Given the description of an element on the screen output the (x, y) to click on. 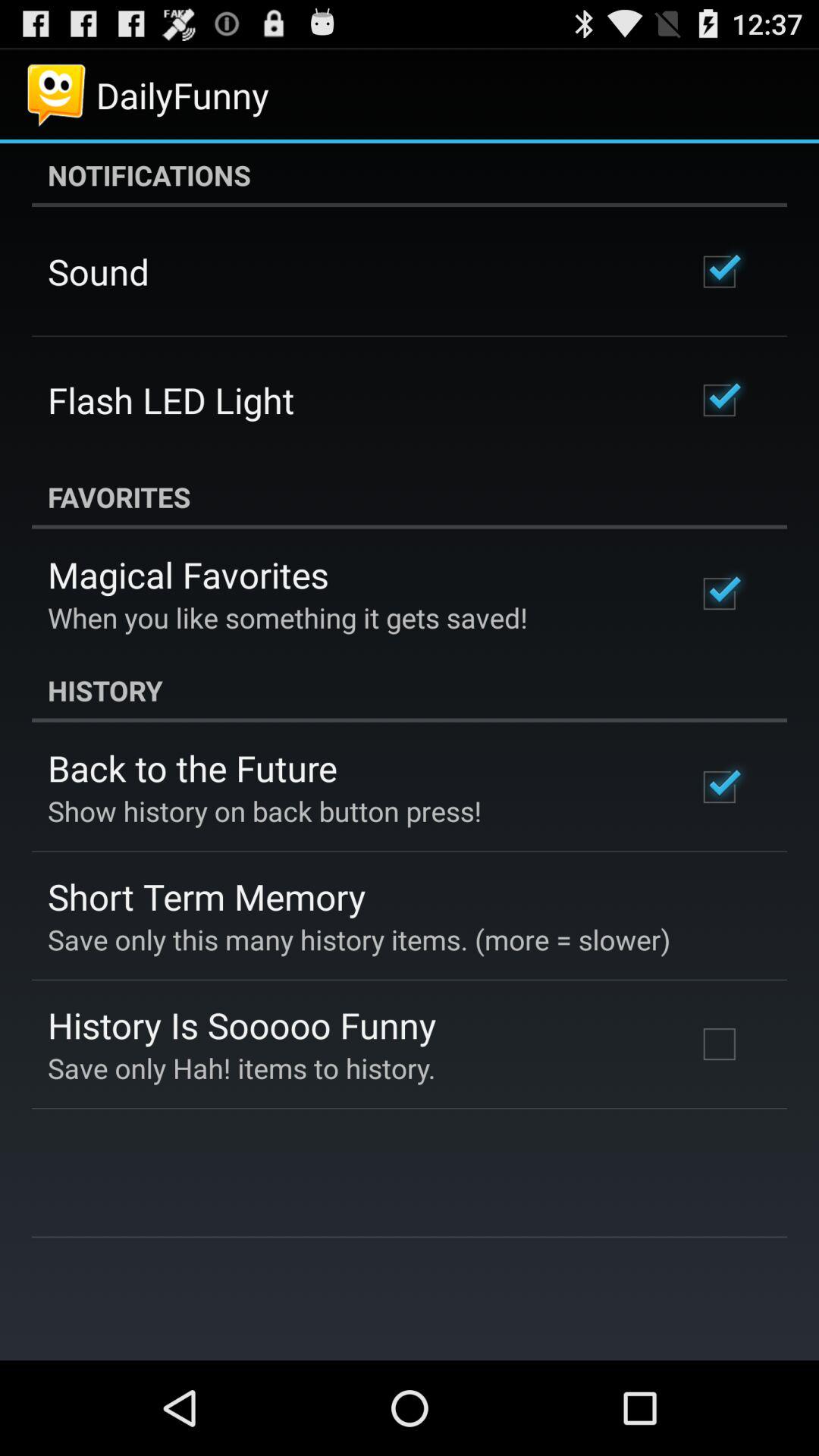
open the icon below the back to the item (264, 810)
